Given the description of an element on the screen output the (x, y) to click on. 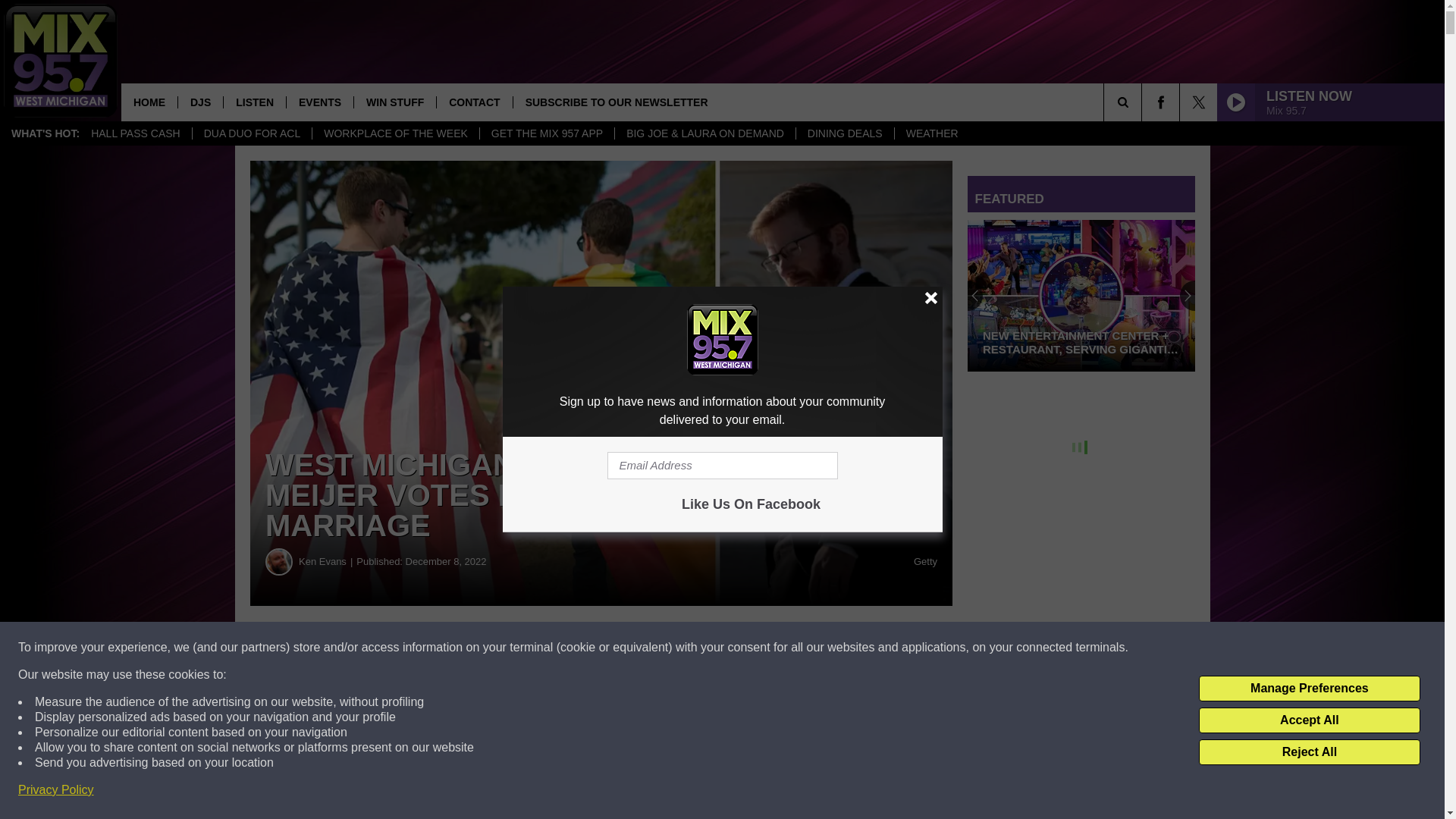
Reject All (1309, 751)
EVENTS (319, 102)
WEATHER (931, 133)
Privacy Policy (55, 789)
CONTACT (473, 102)
DUA DUO FOR ACL (252, 133)
DINING DEALS (843, 133)
DJS (199, 102)
HALL PASS CASH (136, 133)
GET THE MIX 957 APP (546, 133)
LISTEN (253, 102)
HOME (148, 102)
Share on Facebook (460, 647)
Share on Twitter (741, 647)
SEARCH (1144, 102)
